Given the description of an element on the screen output the (x, y) to click on. 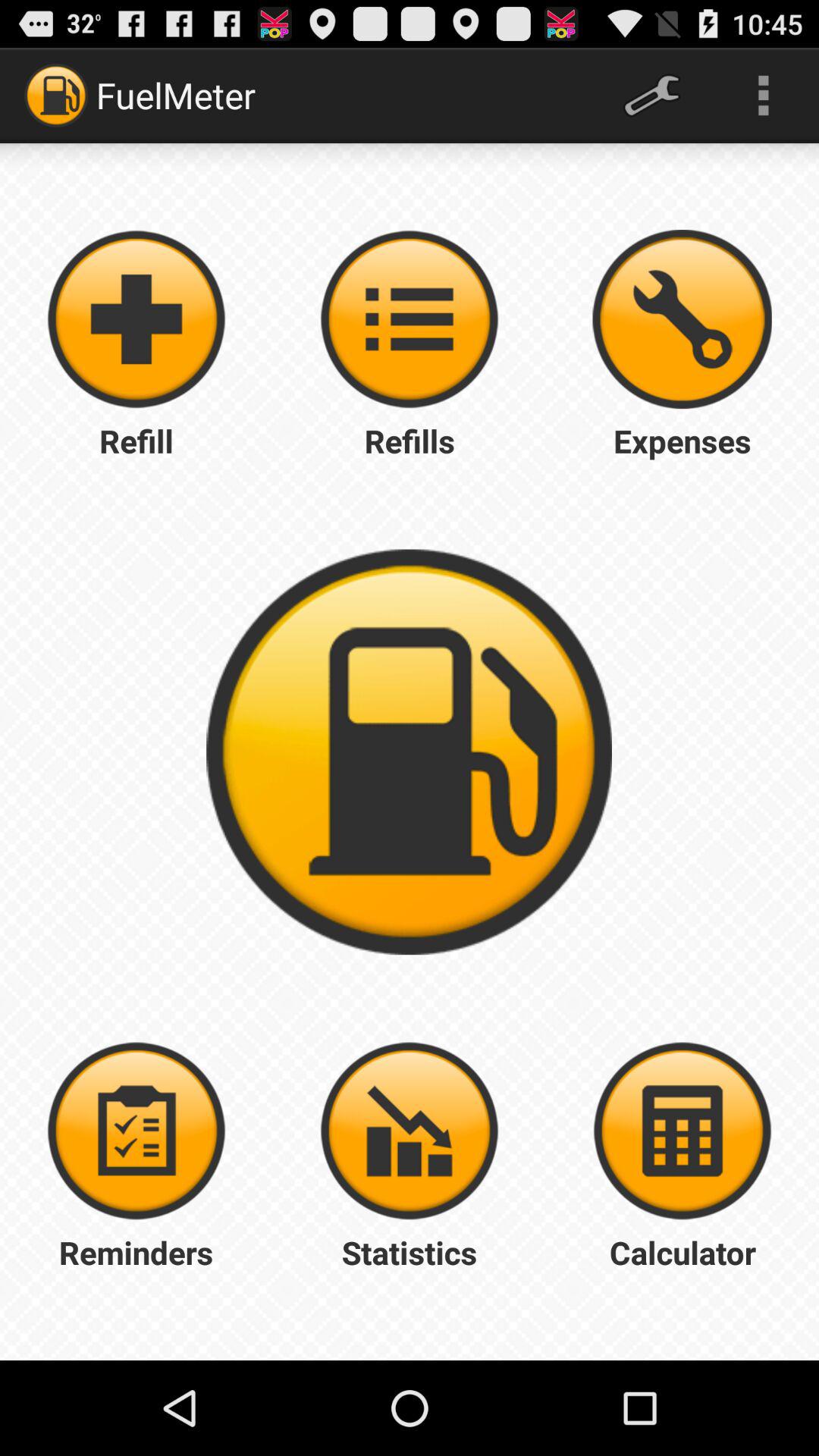
open statistics (409, 1130)
